Given the description of an element on the screen output the (x, y) to click on. 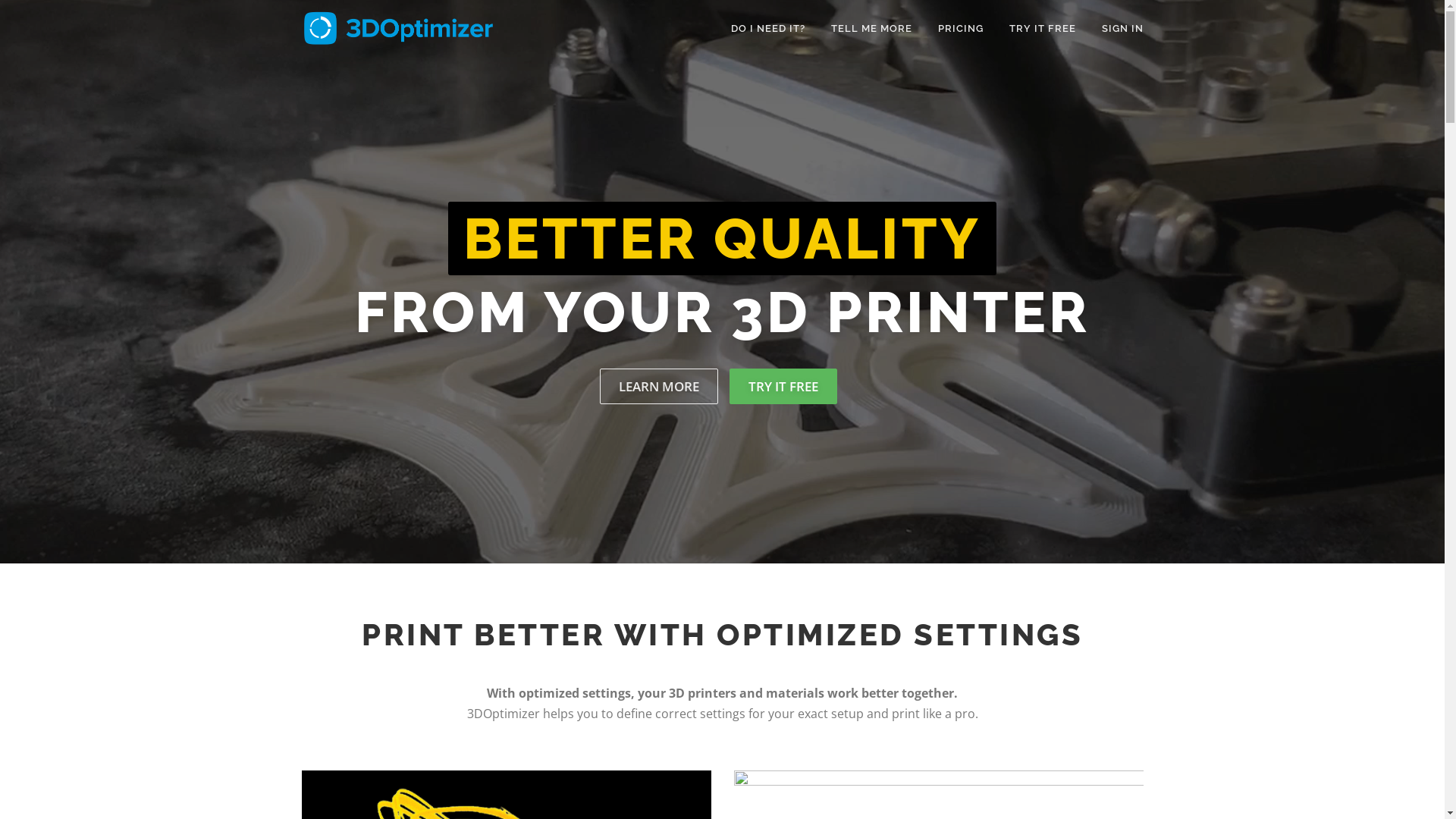
TRY IT FREE Element type: text (783, 386)
Skip to content Element type: text (43, 10)
LEARN MORE Element type: text (658, 386)
TELL ME MORE Element type: text (870, 28)
SIGN IN Element type: text (1115, 28)
DO I NEED IT? Element type: text (767, 28)
PRICING Element type: text (960, 28)
TRY IT FREE Element type: text (1042, 28)
